Given the description of an element on the screen output the (x, y) to click on. 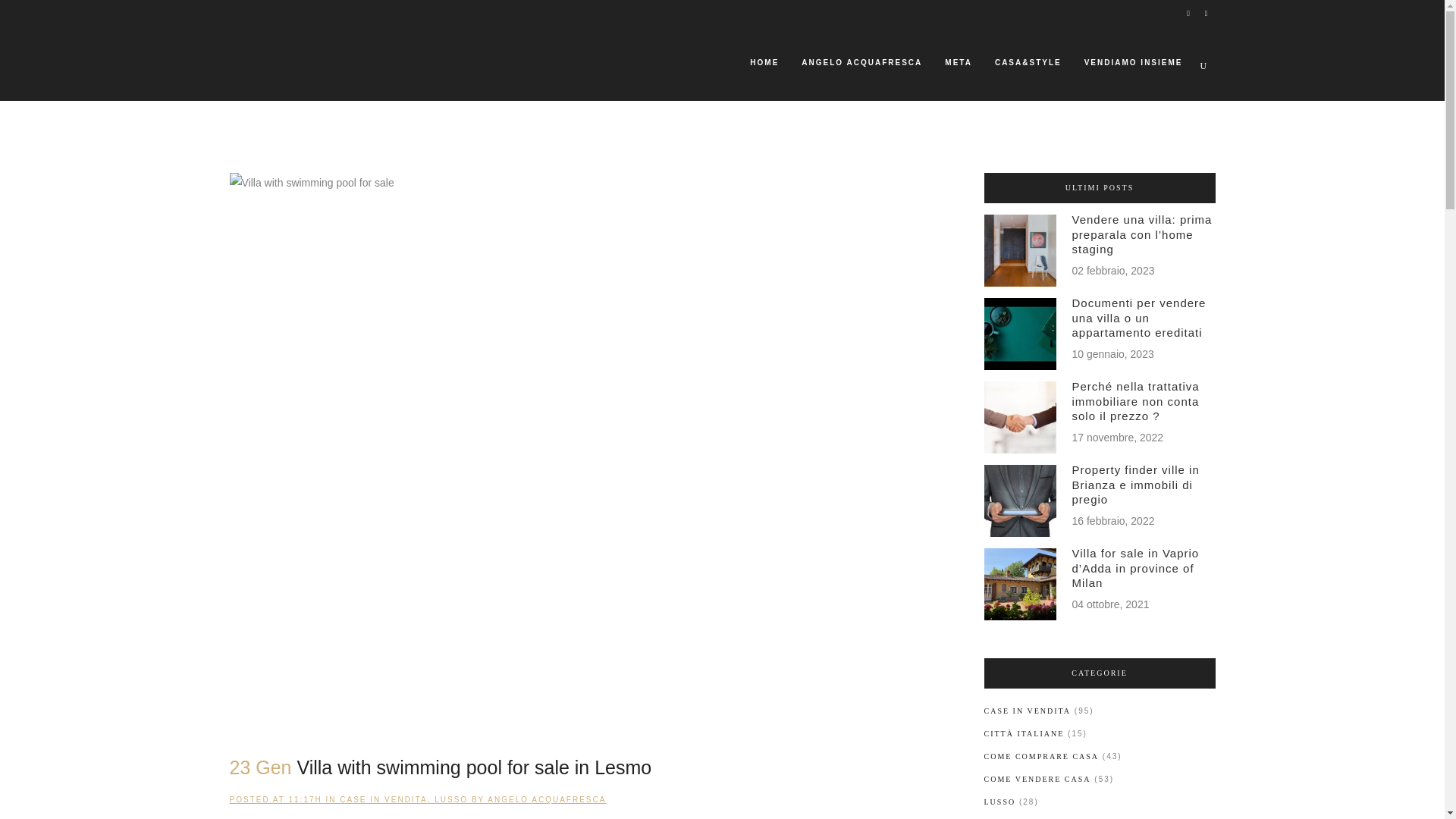
Documenti per vendere una villa o un appartamento ereditati (1139, 317)
CASE IN VENDITA (382, 799)
ANGELO ACQUAFRESCA (546, 799)
ANGELO ACQUAFRESCA (861, 62)
LUSSO (450, 799)
VENDIAMO INSIEME (1133, 62)
